Given the description of an element on the screen output the (x, y) to click on. 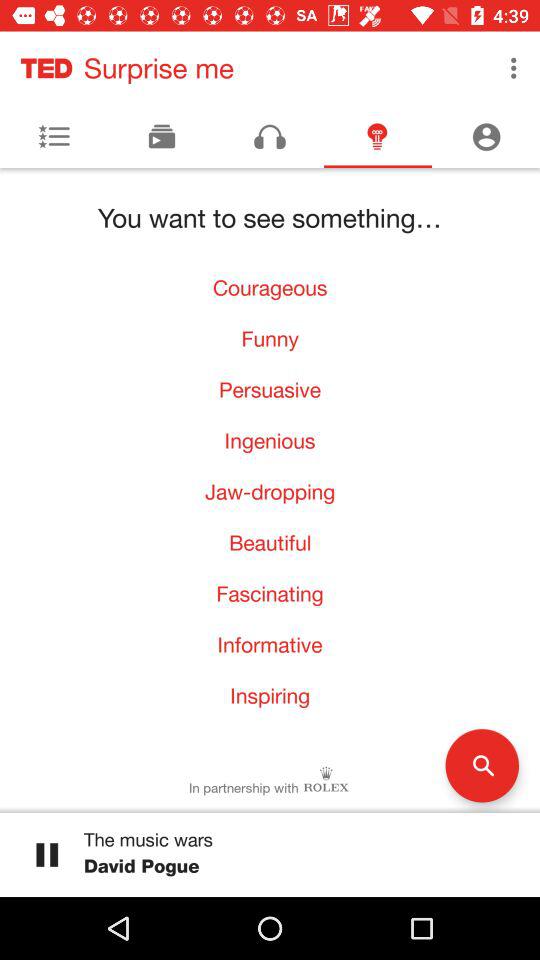
tap the item next to the surprise me item (513, 67)
